Given the description of an element on the screen output the (x, y) to click on. 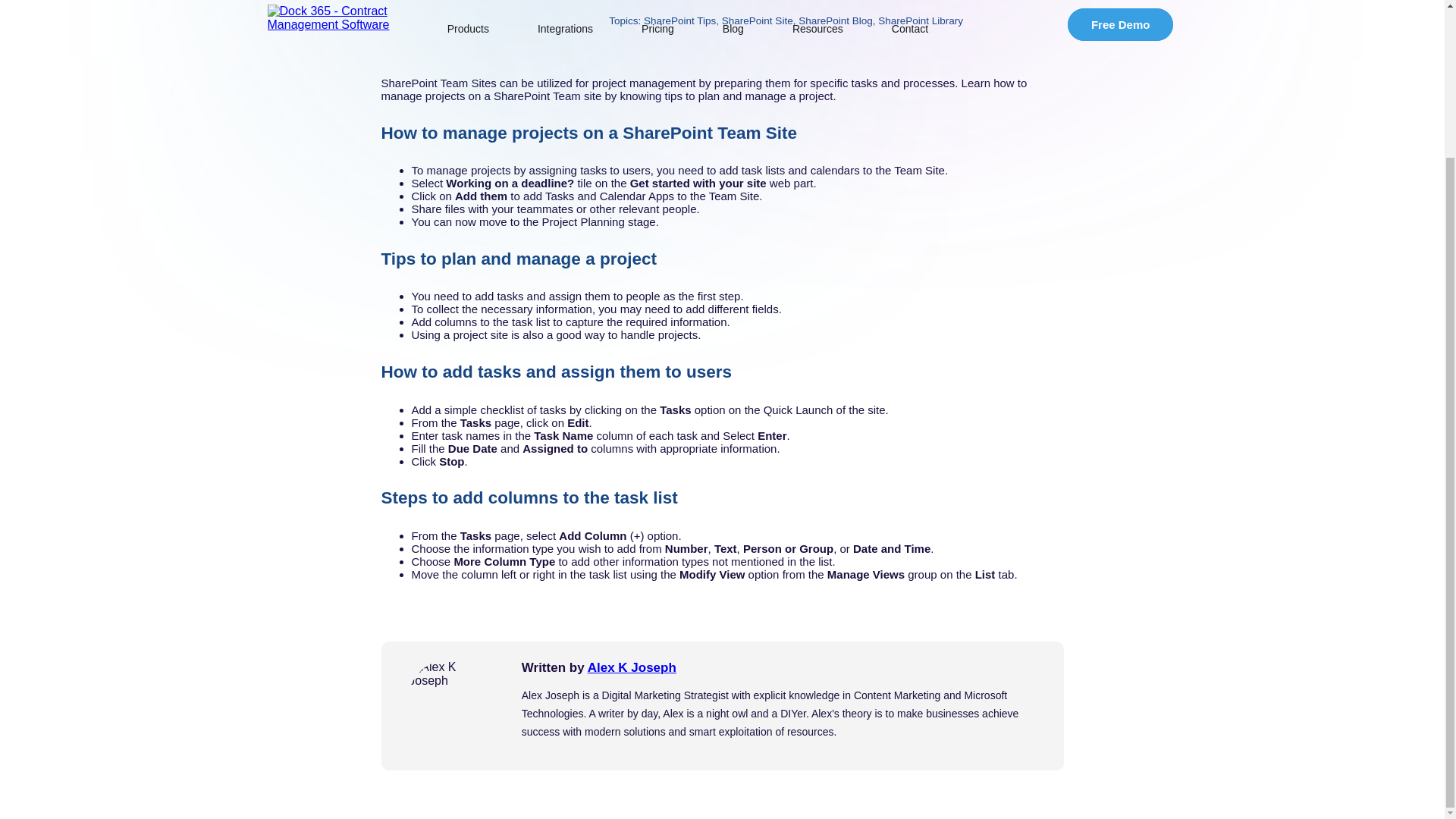
Alex K Joseph (632, 667)
SharePoint Blog (834, 20)
SharePoint Tips (679, 20)
SharePoint Library (919, 20)
SharePoint Site (757, 20)
